Given the description of an element on the screen output the (x, y) to click on. 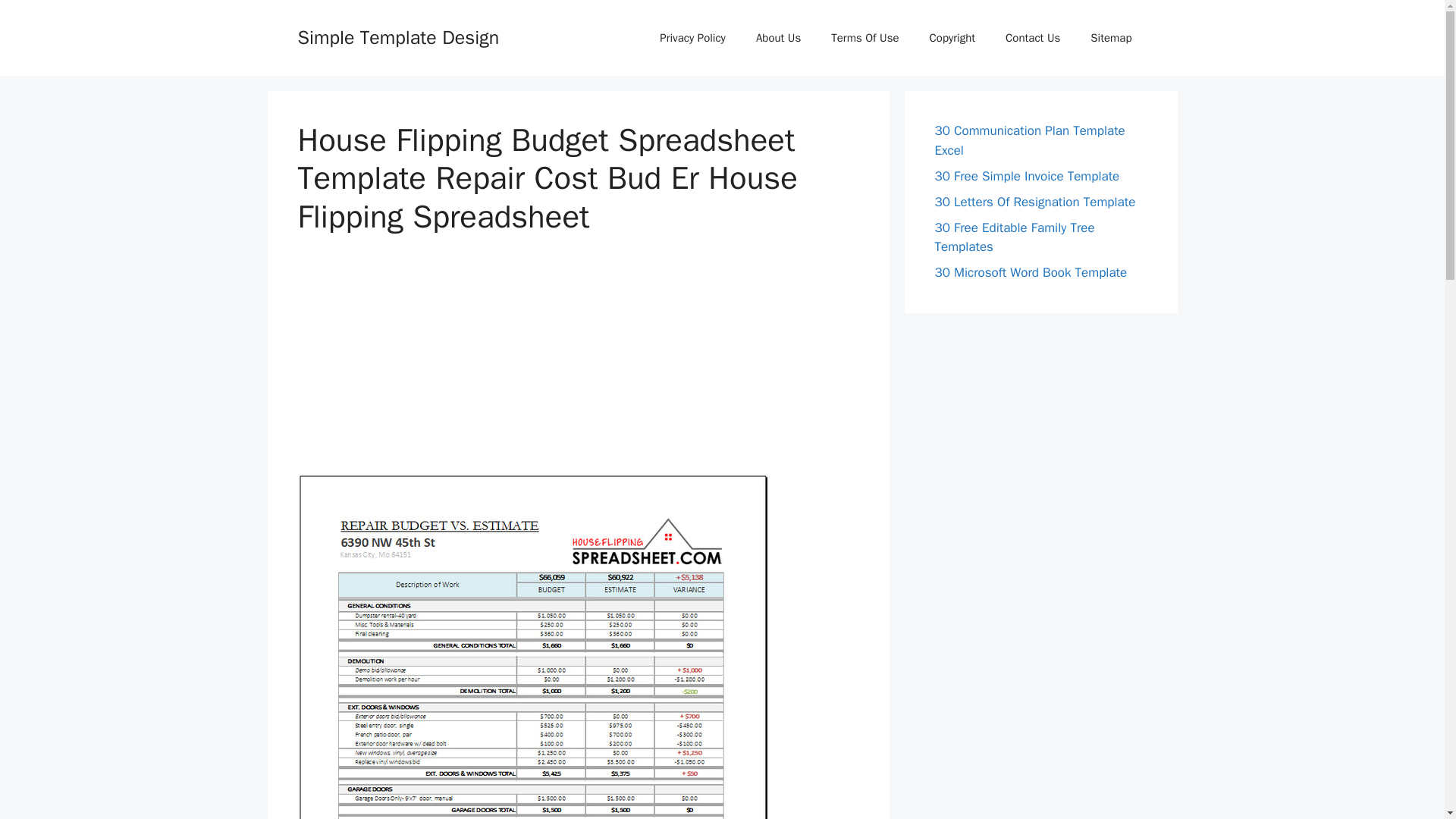
Terms Of Use (864, 37)
Privacy Policy (693, 37)
About Us (778, 37)
Advertisement (578, 367)
30 Letters Of Resignation Template (1034, 201)
30 Communication Plan Template Excel (1029, 140)
Sitemap (1111, 37)
30 Free Editable Family Tree Templates (1014, 237)
Contact Us (1032, 37)
30 Microsoft Word Book Template (1030, 272)
30 Free Simple Invoice Template (1026, 176)
Simple Template Design (398, 37)
Copyright (952, 37)
